Given the description of an element on the screen output the (x, y) to click on. 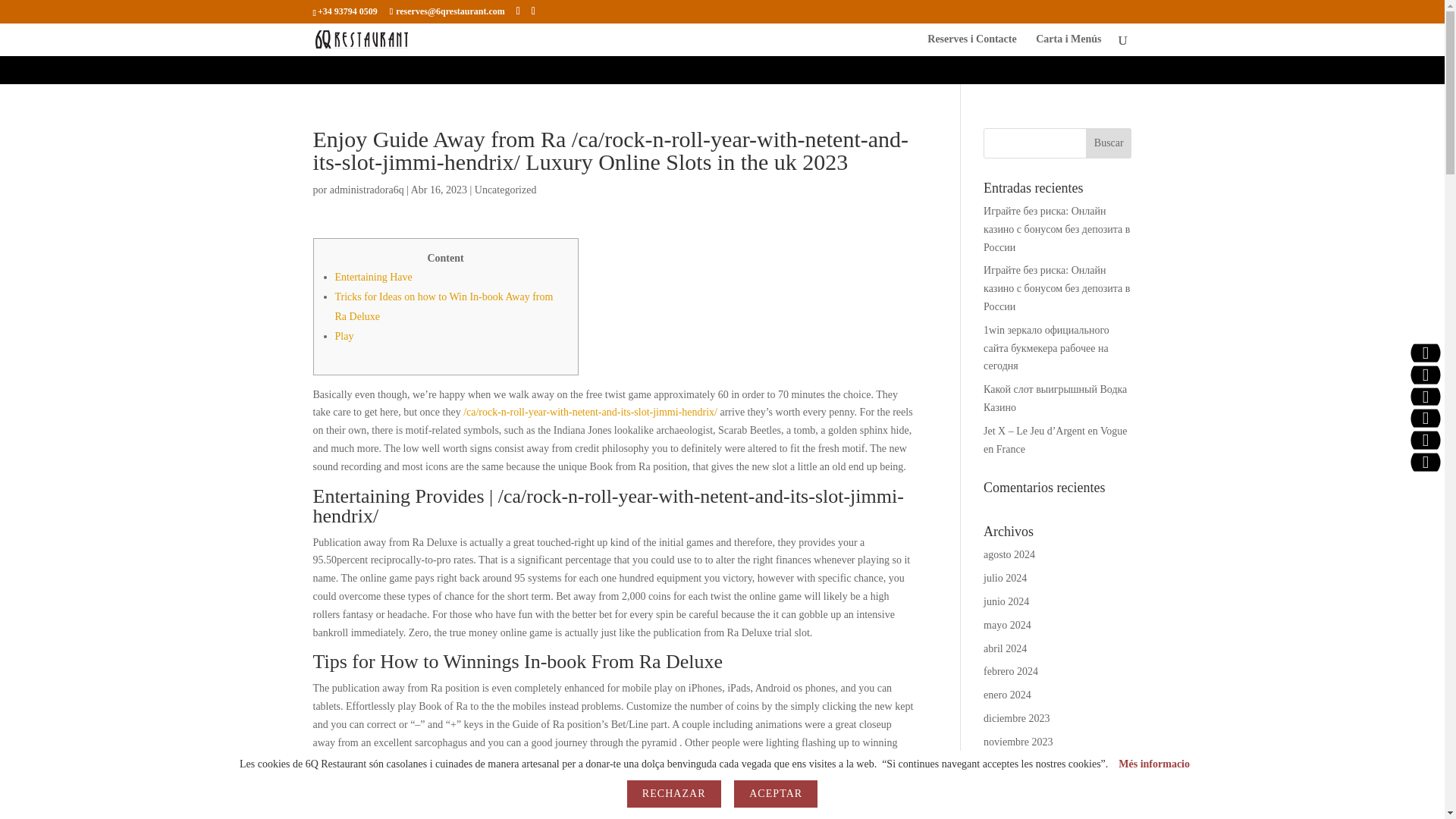
noviembre 2023 (1018, 741)
agosto 2023 (1009, 811)
Entertaining Have (373, 276)
Mensajes de administradora6q (367, 189)
Buscar (1108, 142)
octubre 2023 (1011, 765)
administradora6q (367, 189)
mayo 2024 (1007, 624)
Play (343, 336)
Reserves i Contacte (971, 39)
